Given the description of an element on the screen output the (x, y) to click on. 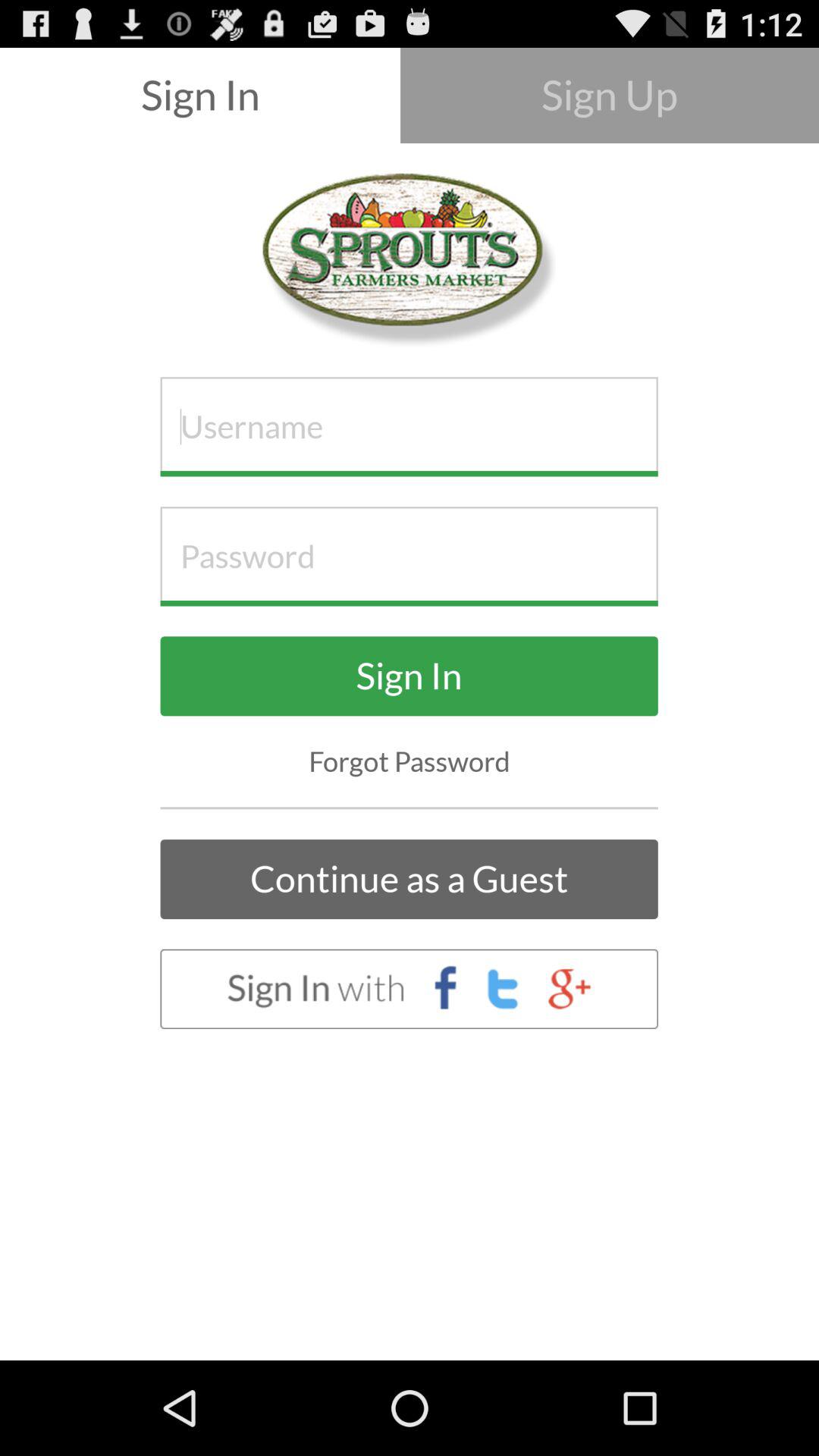
turn on the button below sign in icon (409, 761)
